Given the description of an element on the screen output the (x, y) to click on. 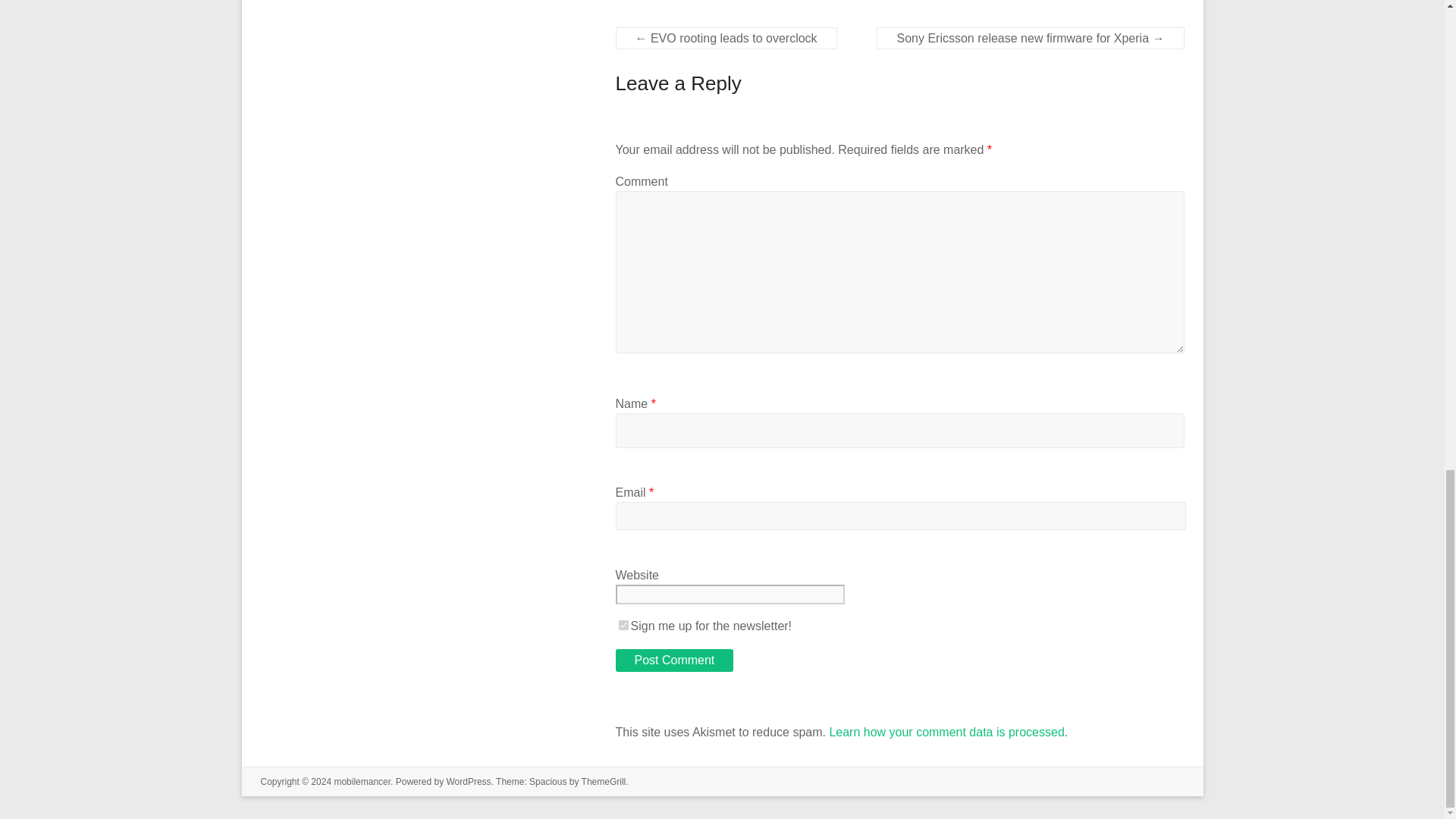
WordPress (467, 781)
ThemeGrill (603, 781)
Learn how your comment data is processed (946, 731)
1 (623, 624)
Post Comment (674, 660)
WordPress (467, 781)
Post Comment (674, 660)
mobilemancer (361, 781)
mobilemancer (361, 781)
ThemeGrill (603, 781)
